Given the description of an element on the screen output the (x, y) to click on. 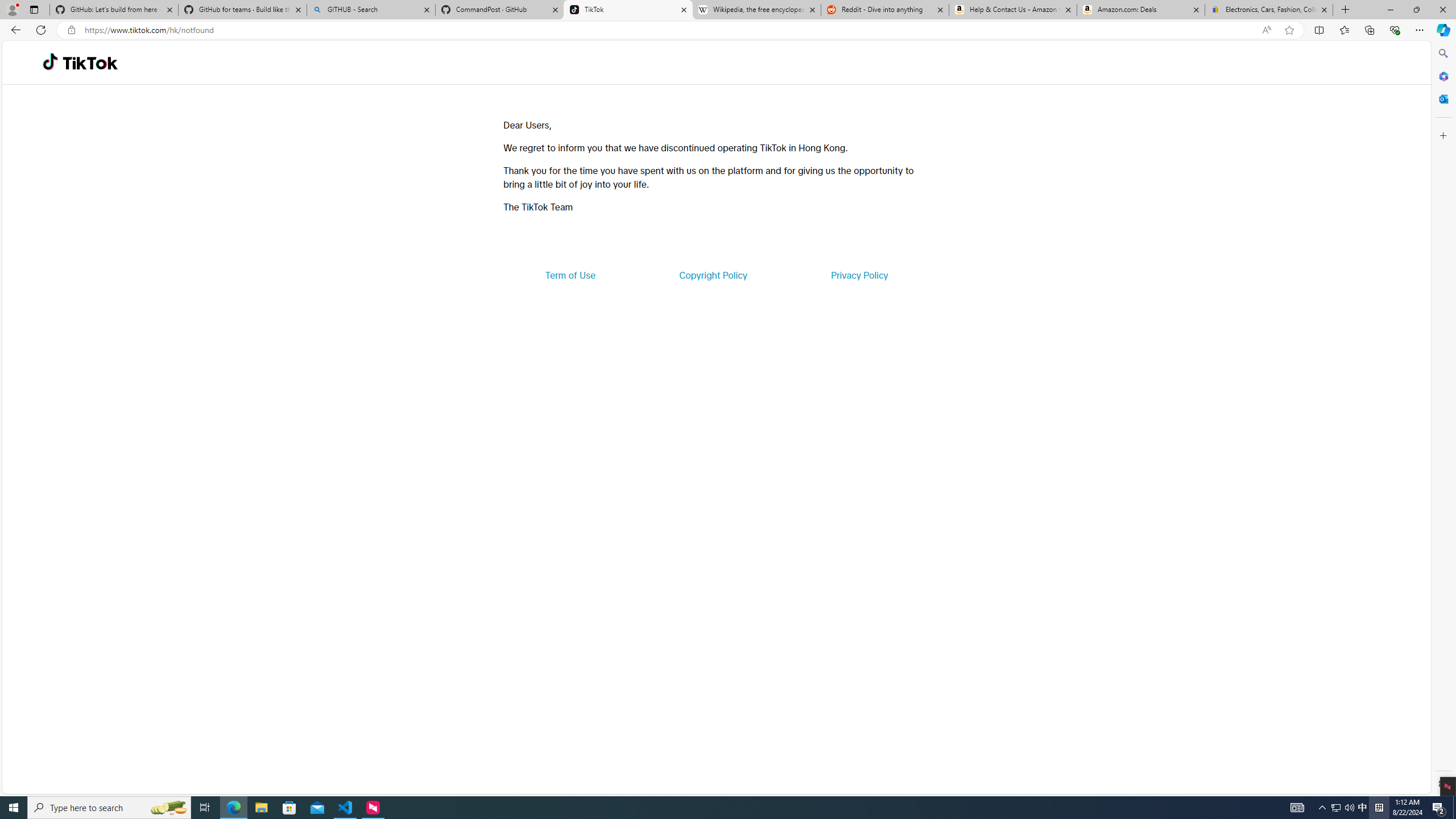
Copyright Policy (712, 274)
TikTok (89, 62)
